Given the description of an element on the screen output the (x, y) to click on. 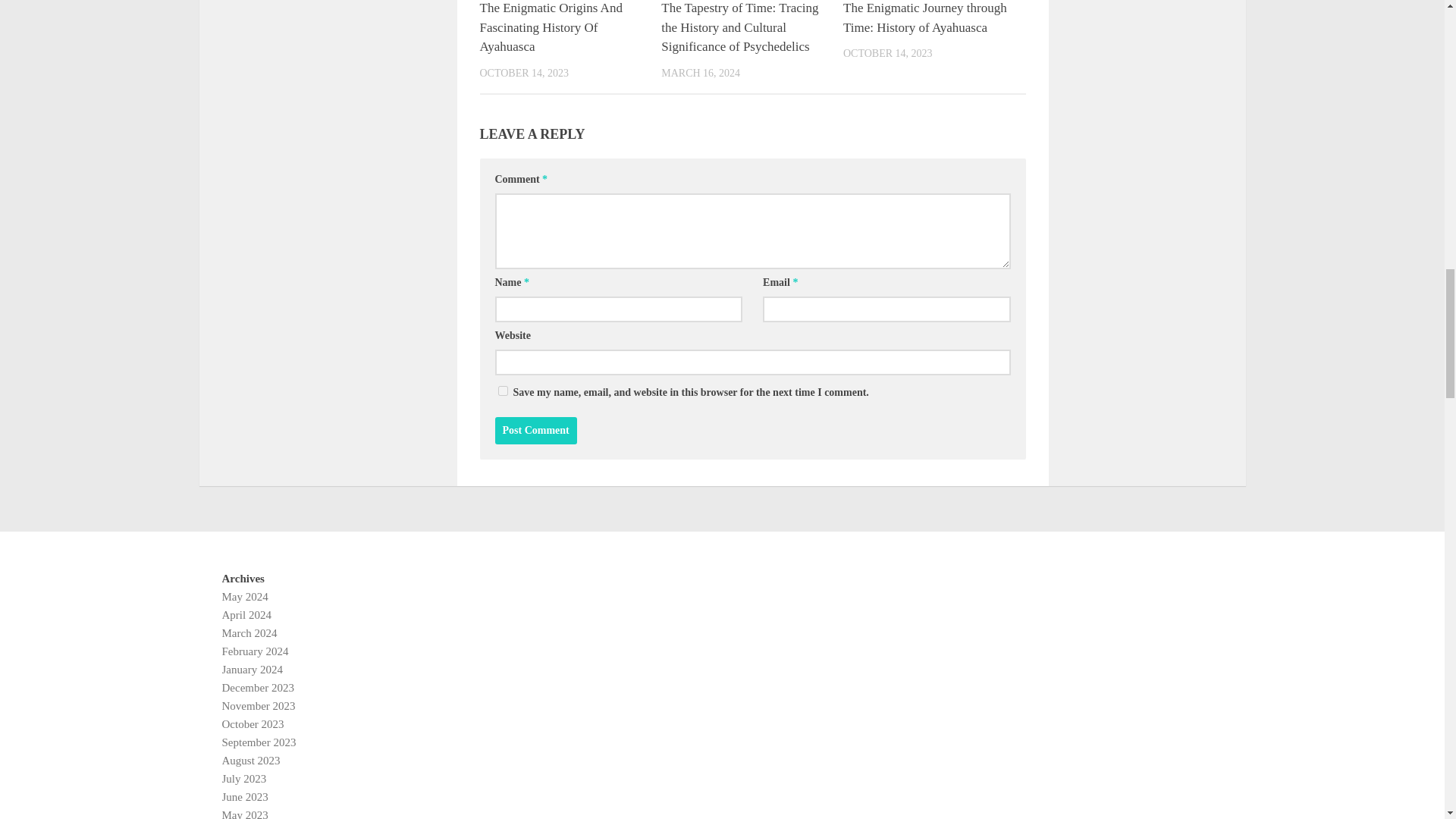
The Enigmatic Origins And Fascinating History Of Ayahuasca (550, 27)
yes (501, 390)
The Enigmatic Journey through Time: History of Ayahuasca (925, 17)
Post Comment (535, 430)
Post Comment (535, 430)
